Given the description of an element on the screen output the (x, y) to click on. 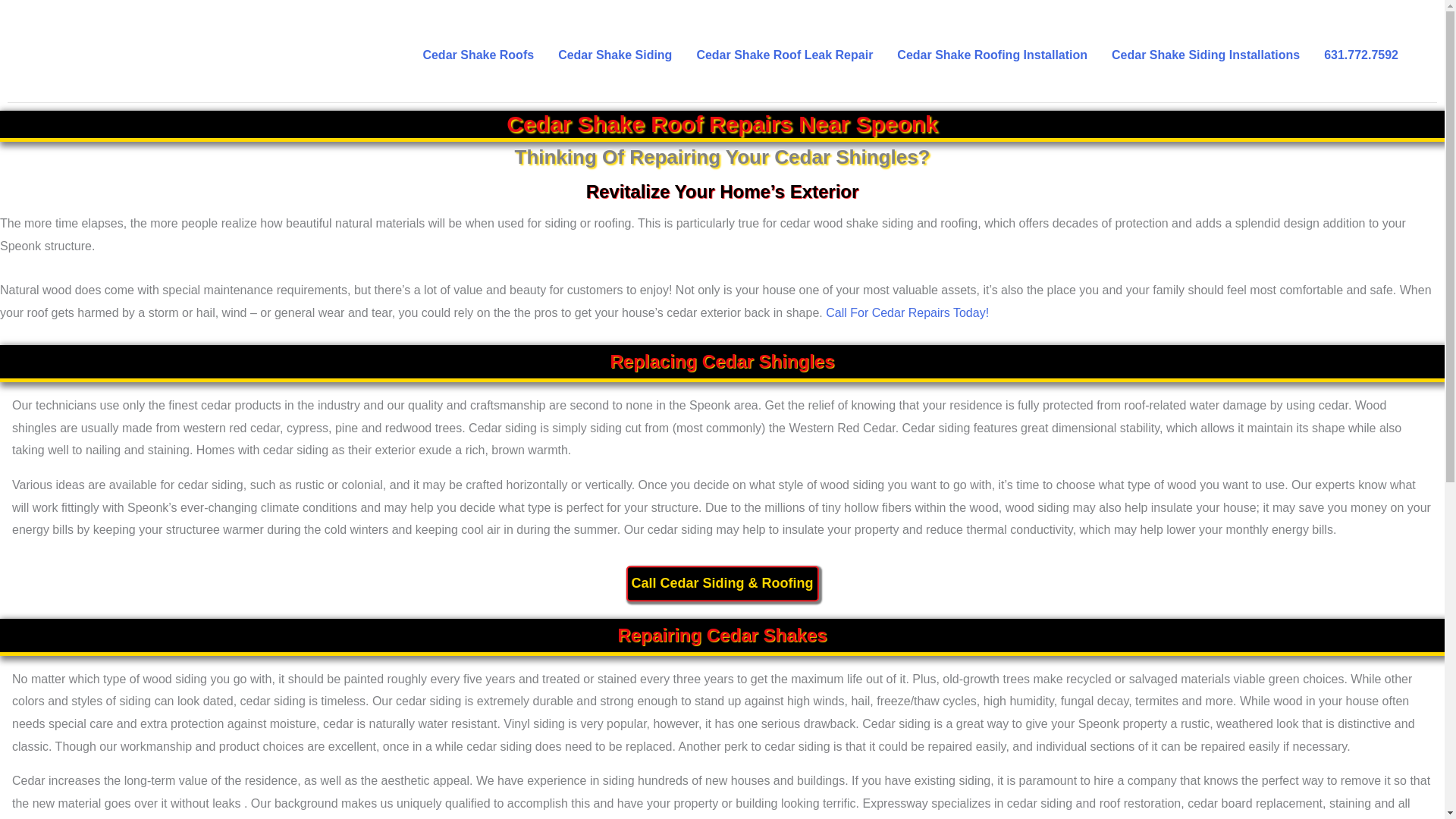
Cedar Shake Siding Installations (1205, 54)
Cedar Shake Roofing Installation (992, 54)
Cedar Shake Roof Leak Repair (784, 54)
Cedar Shake Siding (615, 54)
631.772.7592 (1360, 54)
Cedar Shake Roofs (478, 54)
